Given the description of an element on the screen output the (x, y) to click on. 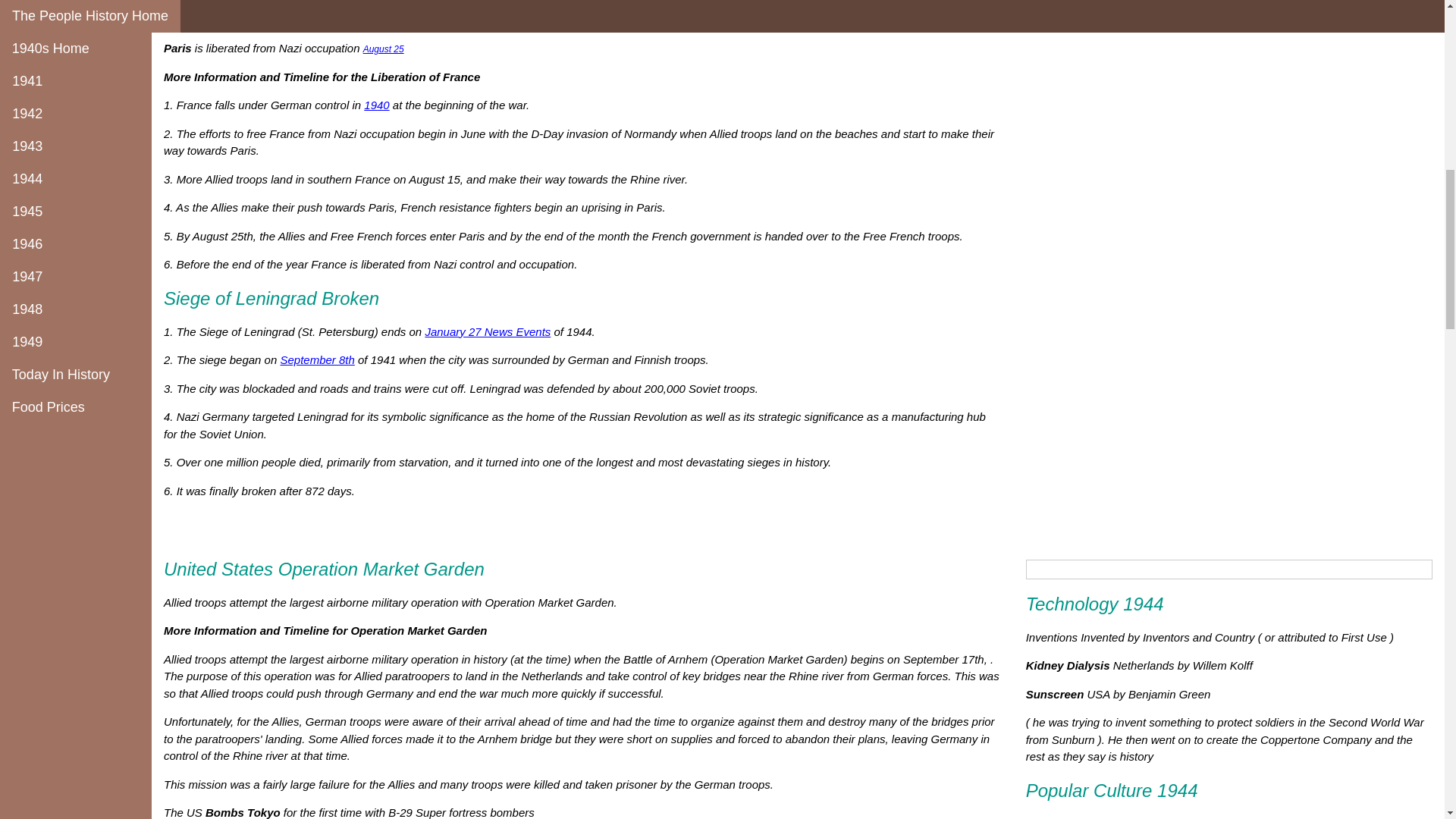
January 27 News Events (487, 331)
1940 (376, 104)
August 25 (383, 49)
September 8th (316, 359)
